Given the description of an element on the screen output the (x, y) to click on. 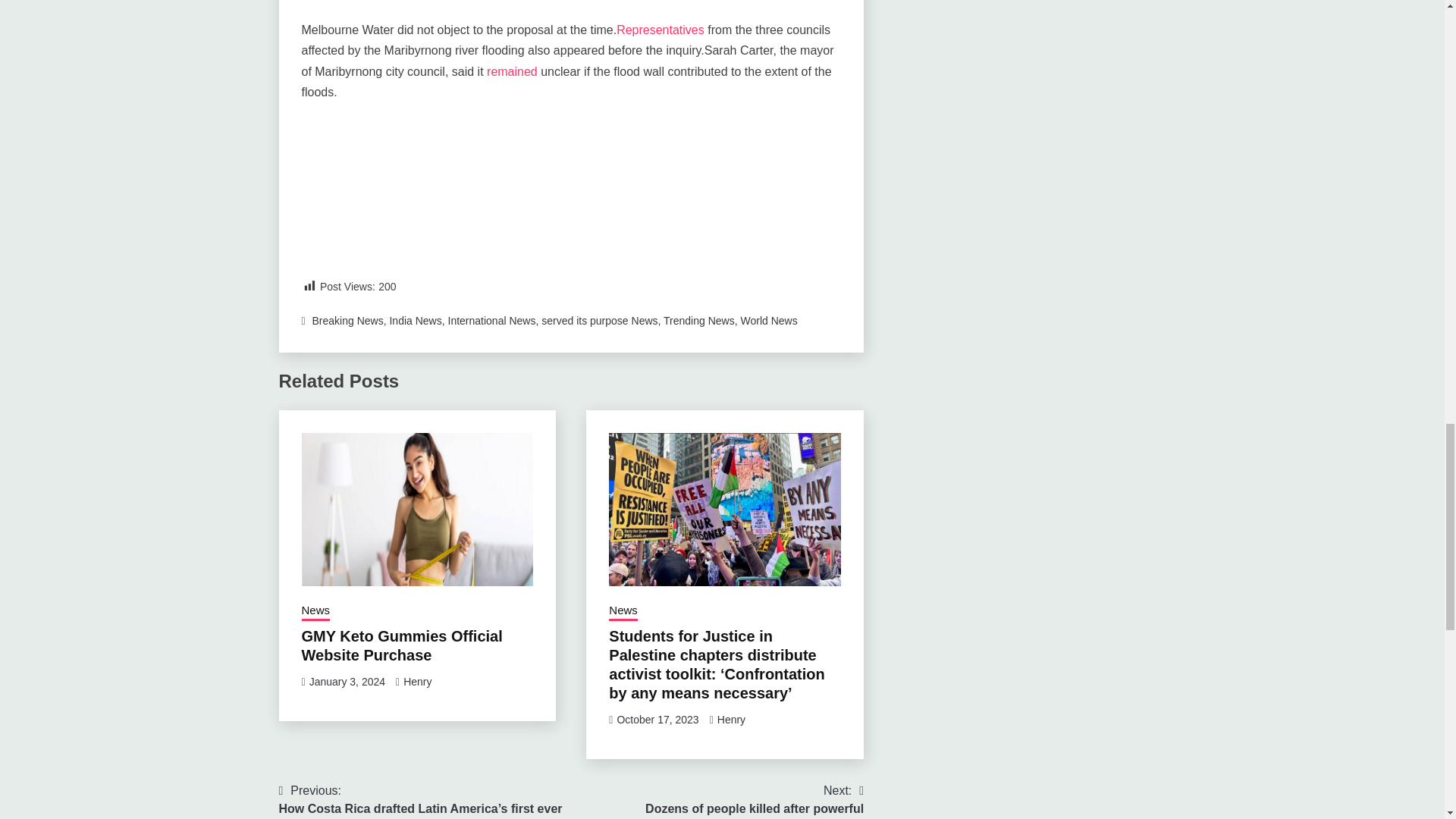
October 17, 2023 (656, 719)
January 3, 2024 (346, 681)
World News (767, 320)
Breaking News (348, 320)
remained (511, 71)
served its purpose News (599, 320)
Henry (416, 681)
News (622, 611)
International News (490, 320)
India News (414, 320)
News (315, 611)
Henry (731, 719)
Representatives (659, 29)
Trending News (699, 320)
